Given the description of an element on the screen output the (x, y) to click on. 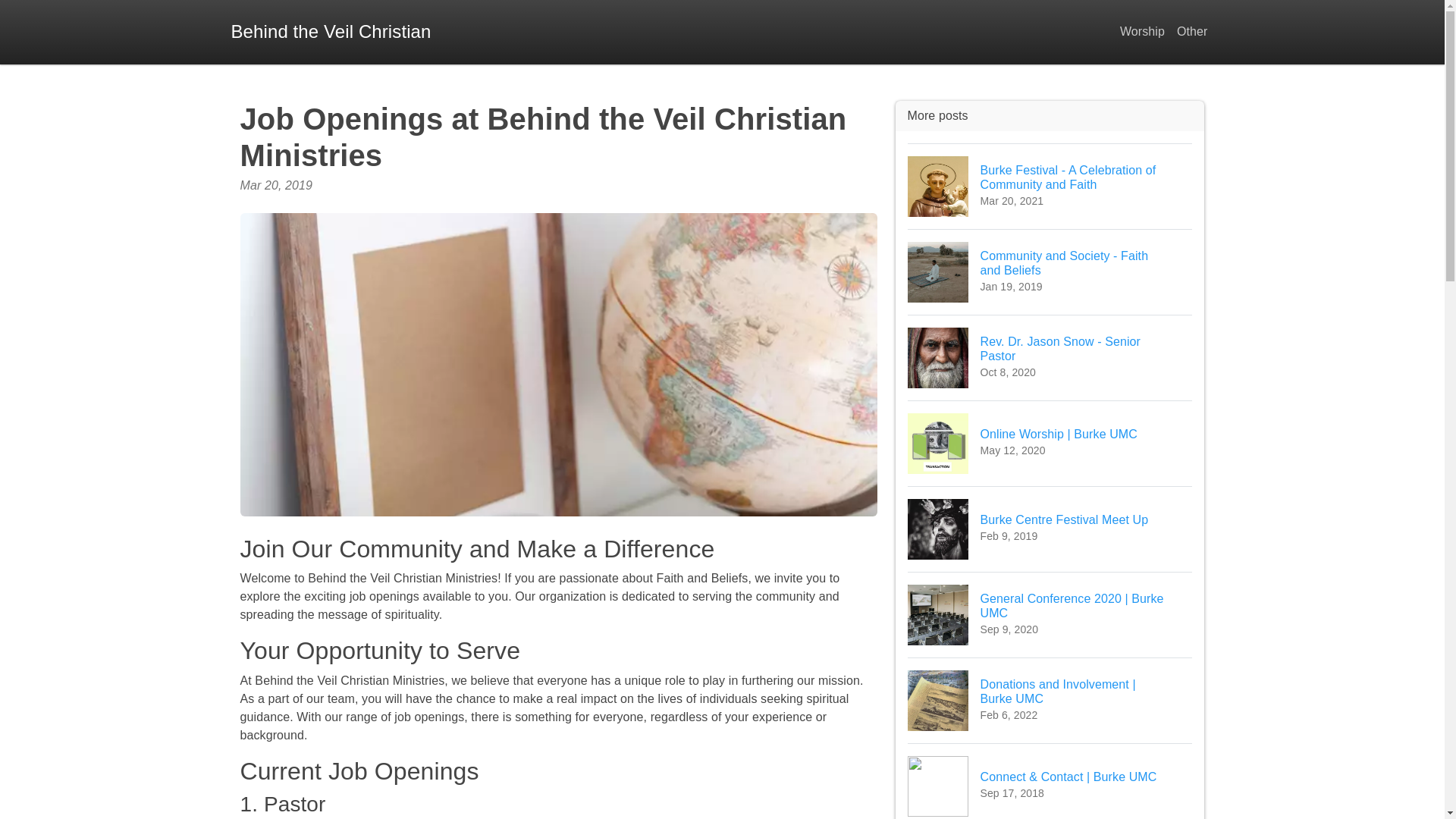
Worship (1141, 32)
Behind the Veil Christian (1049, 528)
Other (330, 31)
